Given the description of an element on the screen output the (x, y) to click on. 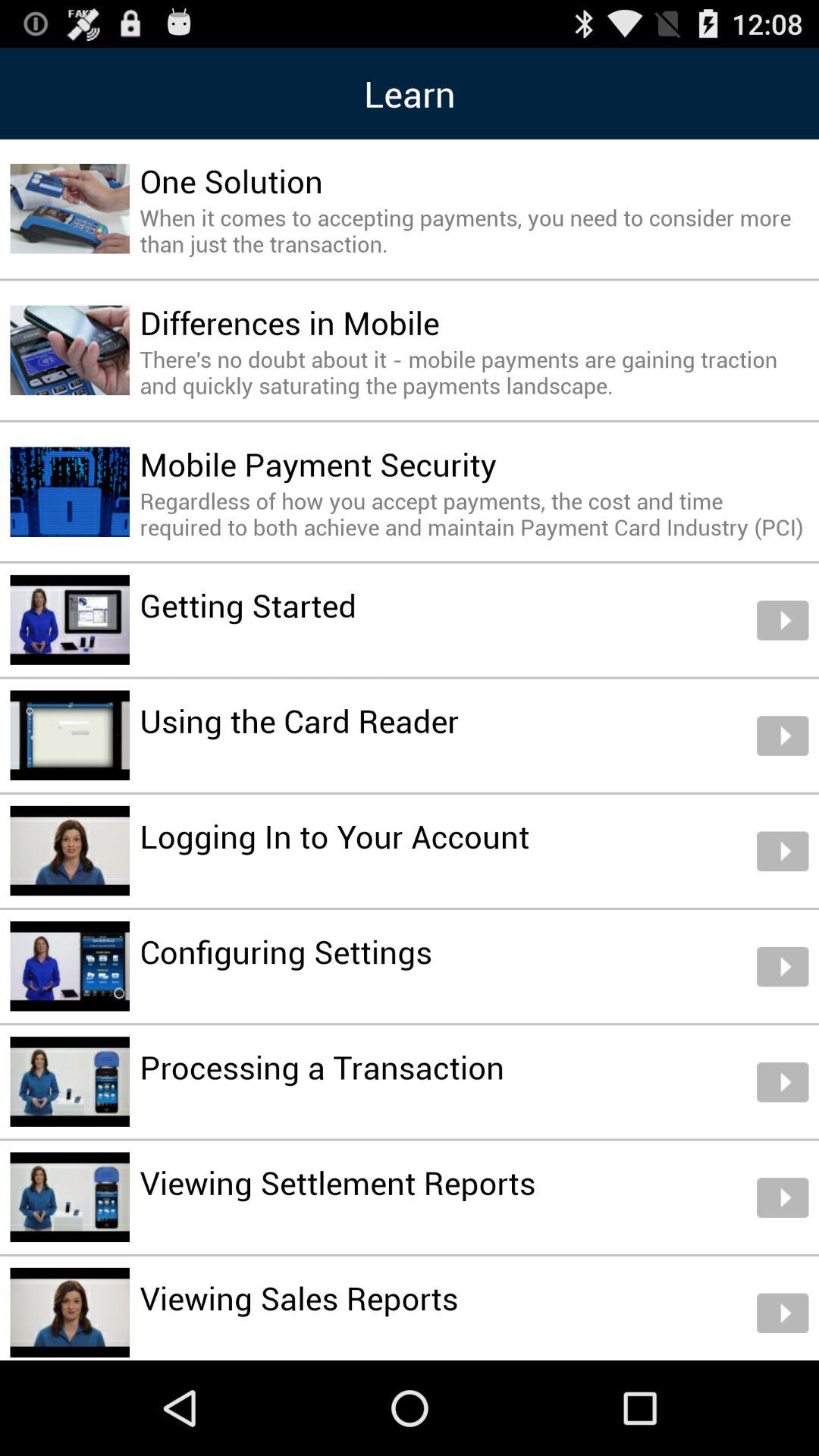
press item above the regardless of how icon (317, 463)
